Given the description of an element on the screen output the (x, y) to click on. 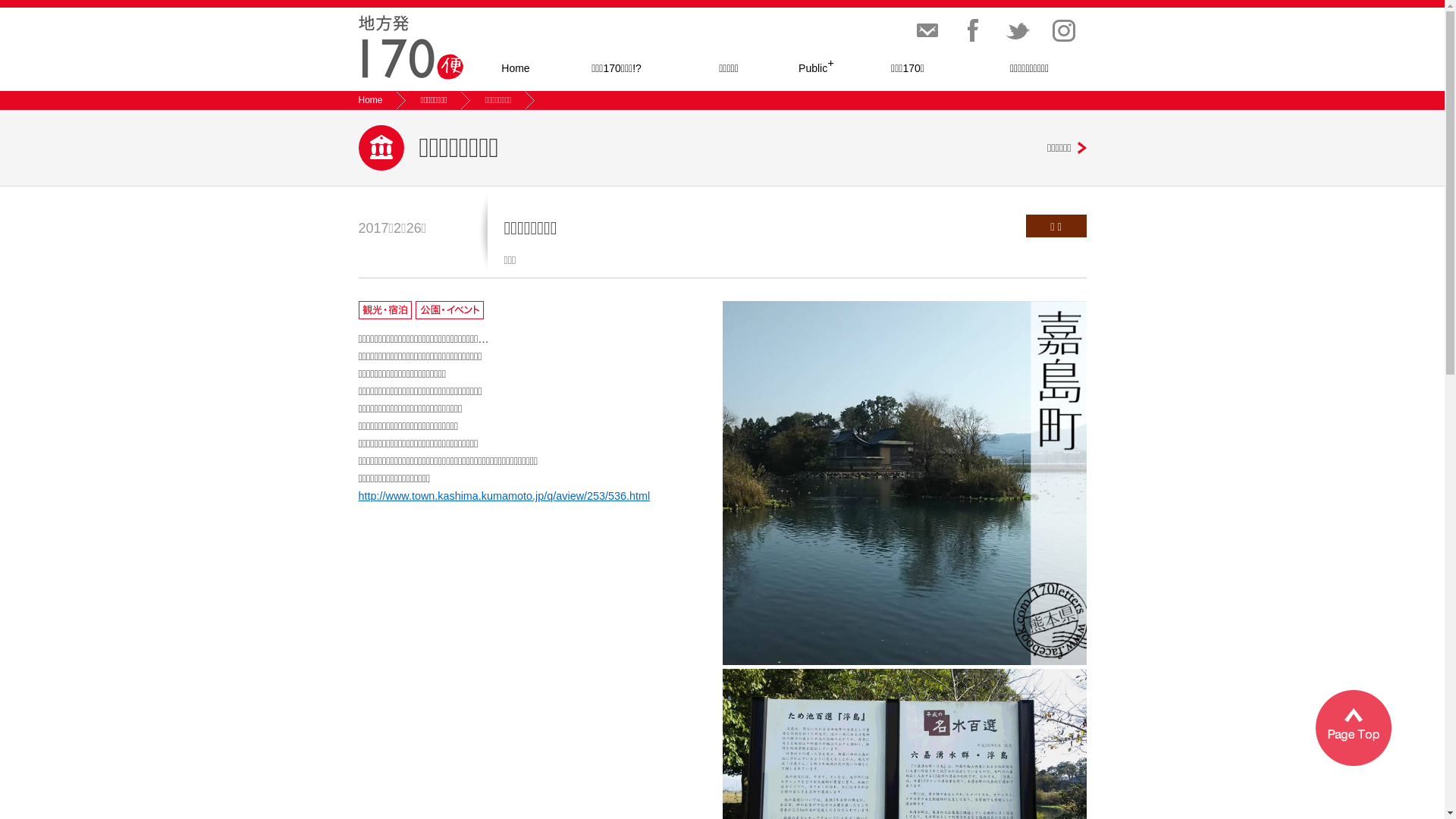
http://www.town.kashima.kumamoto.jp/q/aview/253/536.html Element type: text (503, 495)
Public+ Element type: text (816, 68)
Home Element type: text (369, 99)
Home Element type: text (515, 68)
